Given the description of an element on the screen output the (x, y) to click on. 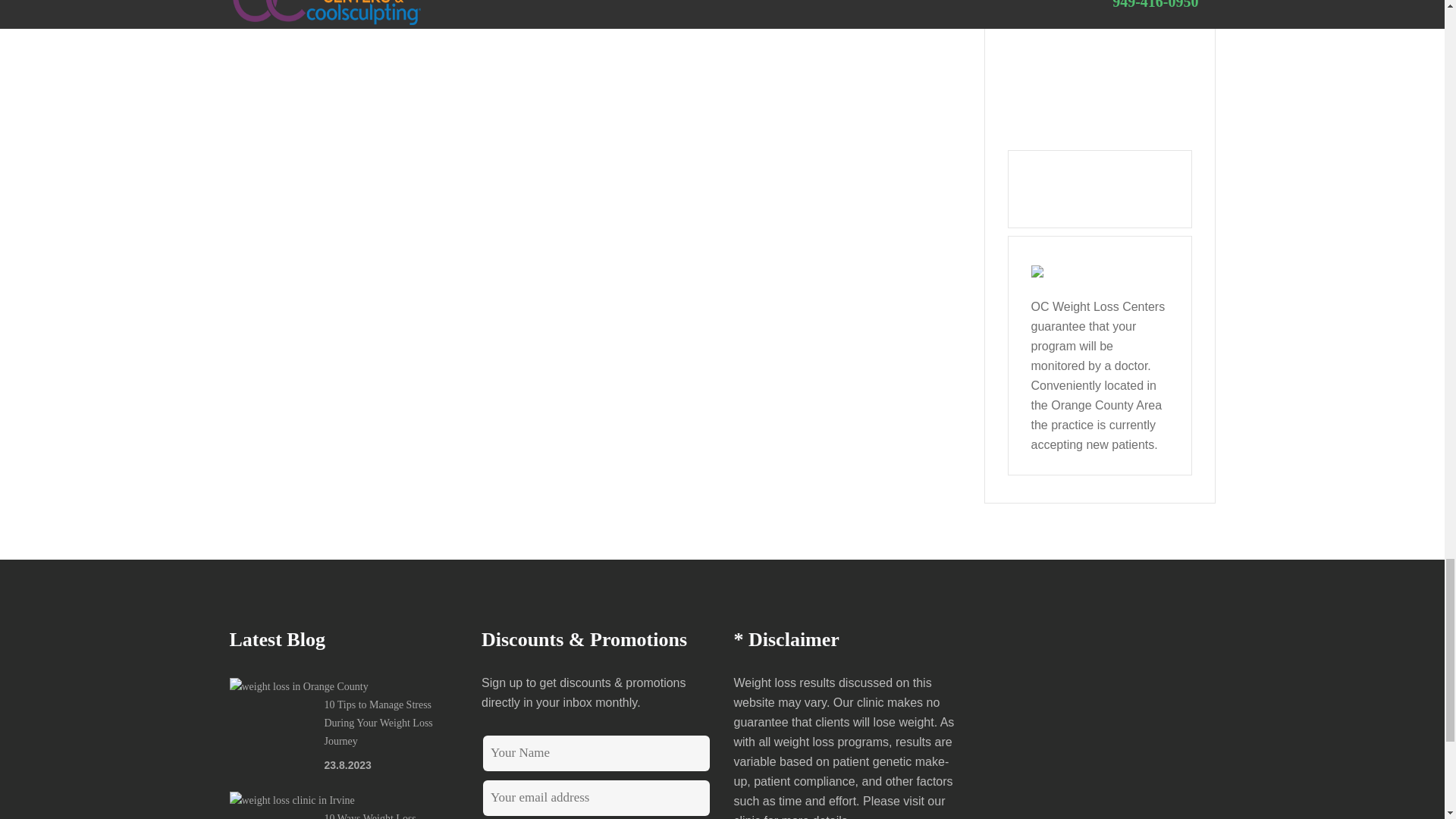
weight loss in Orange County (298, 687)
